Given the description of an element on the screen output the (x, y) to click on. 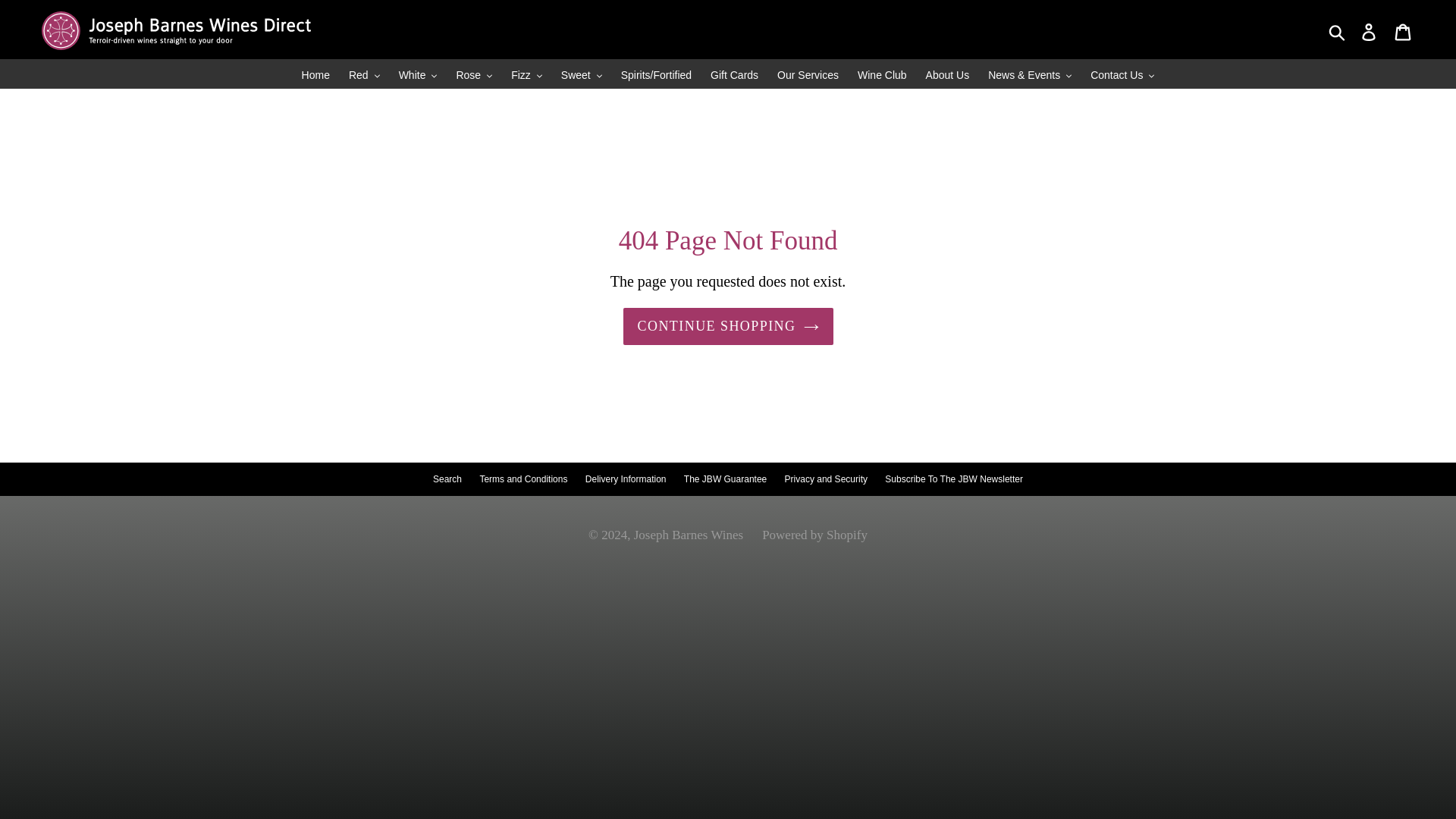
Cart (1404, 30)
Log in (1369, 30)
Submit (1337, 30)
